Given the description of an element on the screen output the (x, y) to click on. 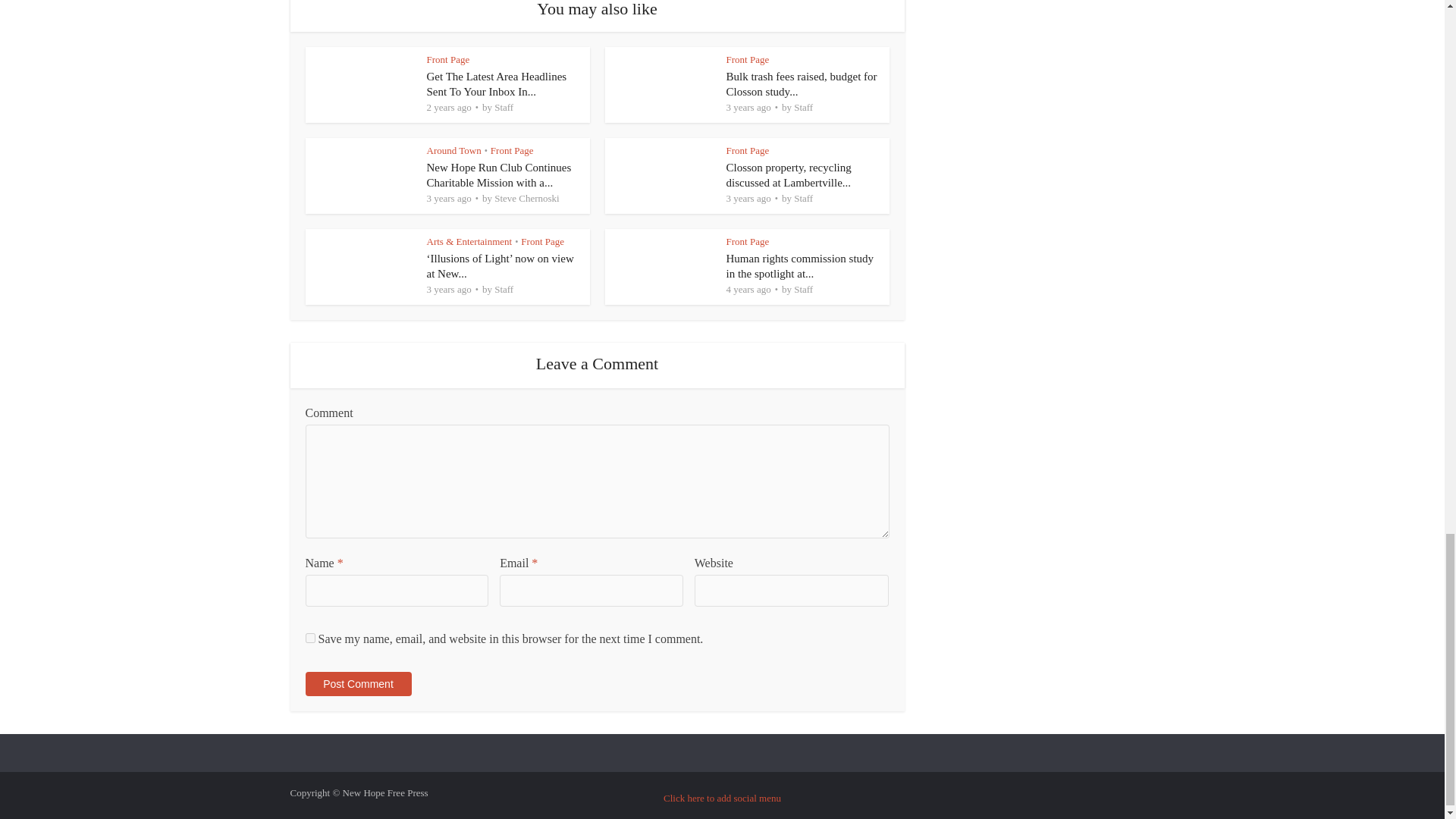
Get The Latest Area Headlines Sent To Your Inbox In... (496, 83)
Staff (504, 106)
Around Town (453, 150)
Bulk trash fees raised, budget for Closson study... (801, 83)
Front Page (512, 150)
Steve Chernoski (527, 197)
Front Page (748, 150)
Front Page (748, 59)
Post Comment (357, 683)
Staff (802, 106)
yes (309, 637)
New Hope Run Club Continues Charitable Mission with a... (498, 175)
Front Page (447, 59)
